Given the description of an element on the screen output the (x, y) to click on. 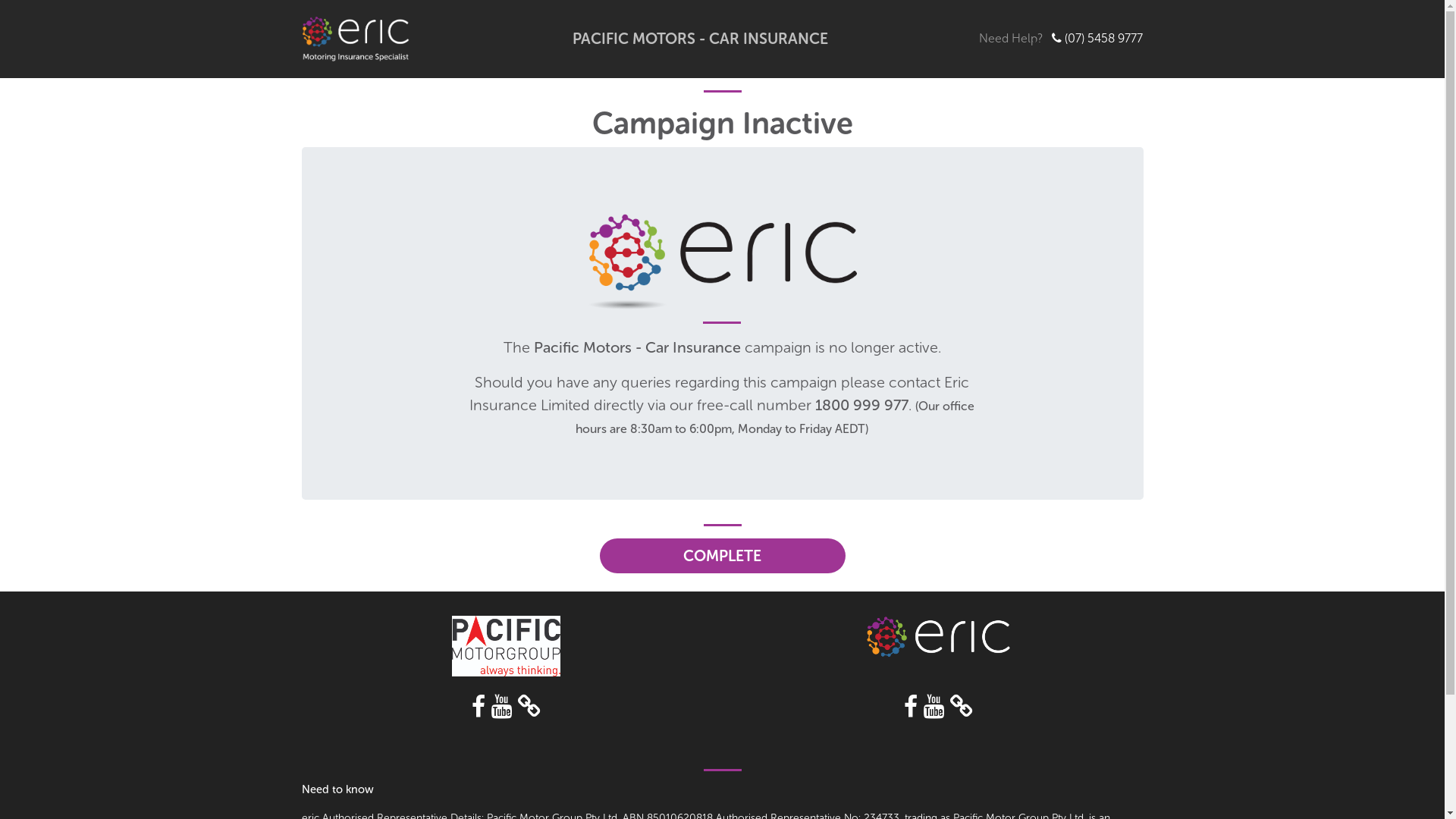
(07) 5458 9777 Element type: text (1103, 38)
COMPLETE Element type: text (721, 555)
PACIFIC MOTORS - CAR INSURANCE Element type: text (700, 38)
